Given the description of an element on the screen output the (x, y) to click on. 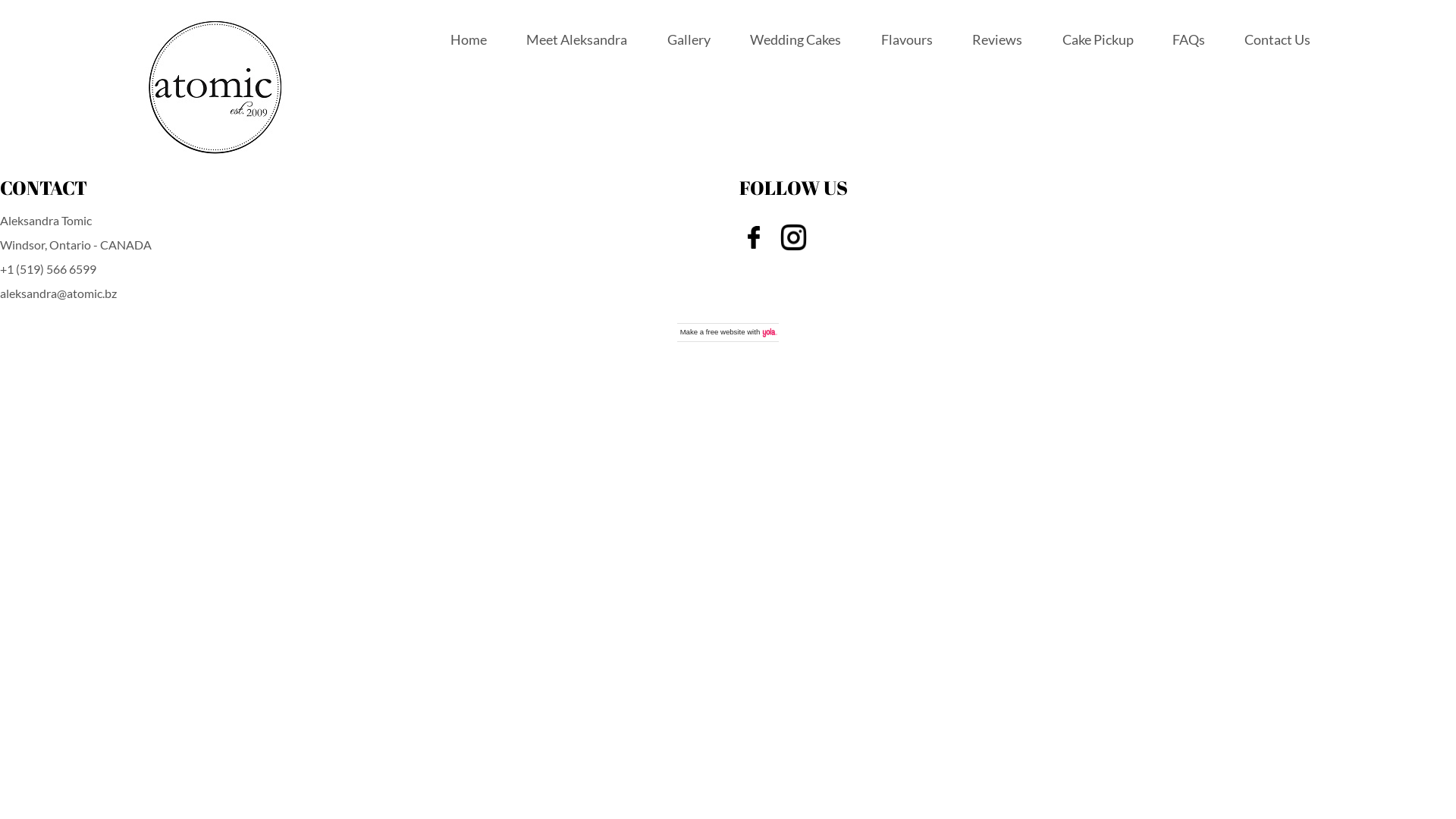
Flavours Element type: text (906, 39)
Home Element type: text (468, 39)
FAQs Element type: text (1188, 39)
Meet Aleksandra Element type: text (576, 39)
Gallery Element type: text (688, 39)
Contact Us Element type: text (1277, 39)
Wedding Cakes Element type: text (794, 39)
Cake Pickup Element type: text (1098, 39)
  Element type: text (820, 234)
Reviews Element type: text (997, 39)
free website Element type: text (725, 331)
